Given the description of an element on the screen output the (x, y) to click on. 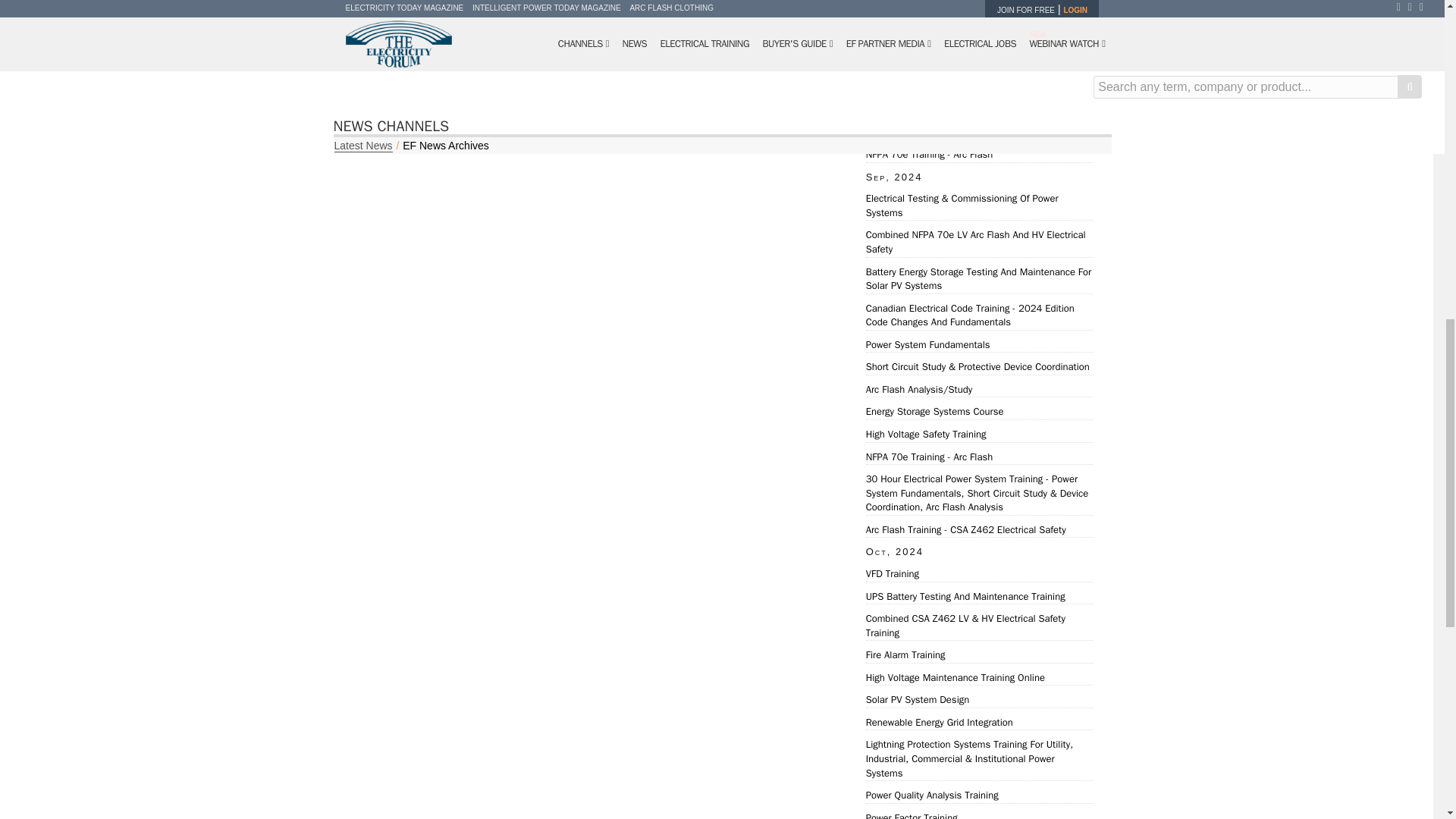
On Twitter (786, 72)
Share it: (732, 72)
On Facebook (766, 72)
On LinkedIn (804, 72)
